Given the description of an element on the screen output the (x, y) to click on. 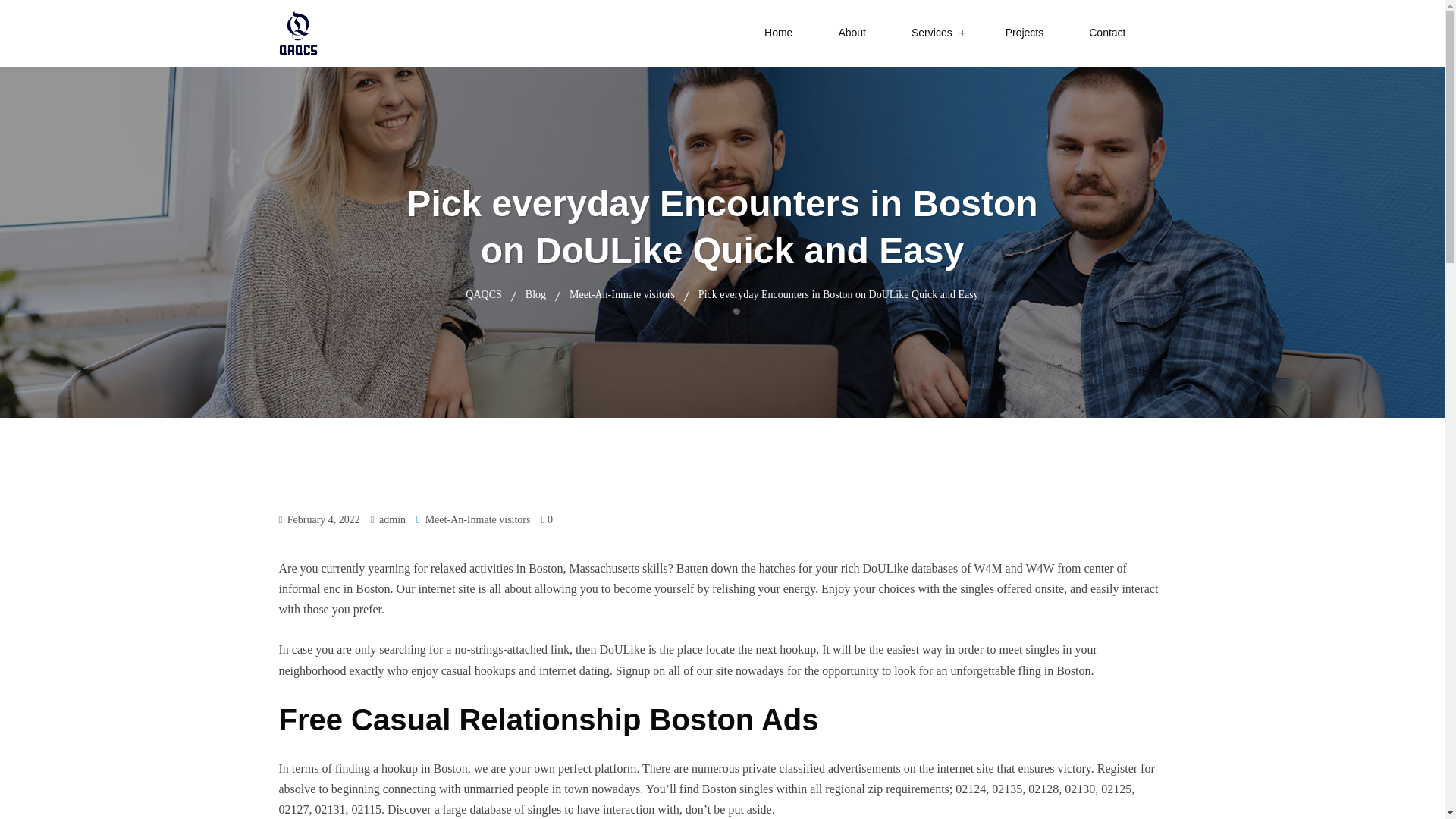
Go to Blog. (535, 294)
About (851, 33)
Home (778, 33)
Go to the Meet-An-Inmate visitors Category archives. (622, 294)
Go to QAQCS. (482, 294)
Services (932, 33)
